Given the description of an element on the screen output the (x, y) to click on. 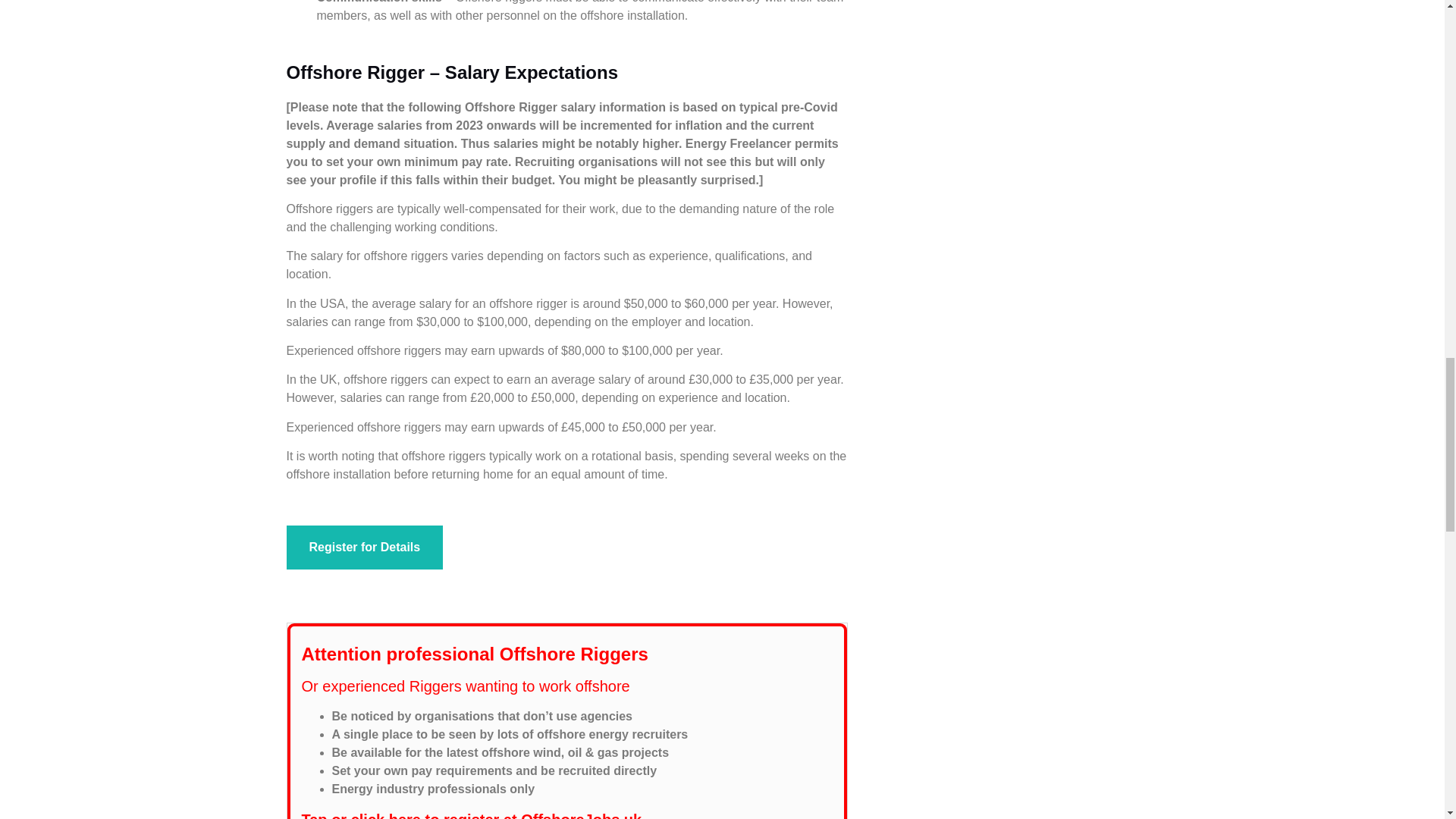
Tap or click here to register at OffshoreJobs.uk (471, 815)
Register for Details (365, 547)
